Given the description of an element on the screen output the (x, y) to click on. 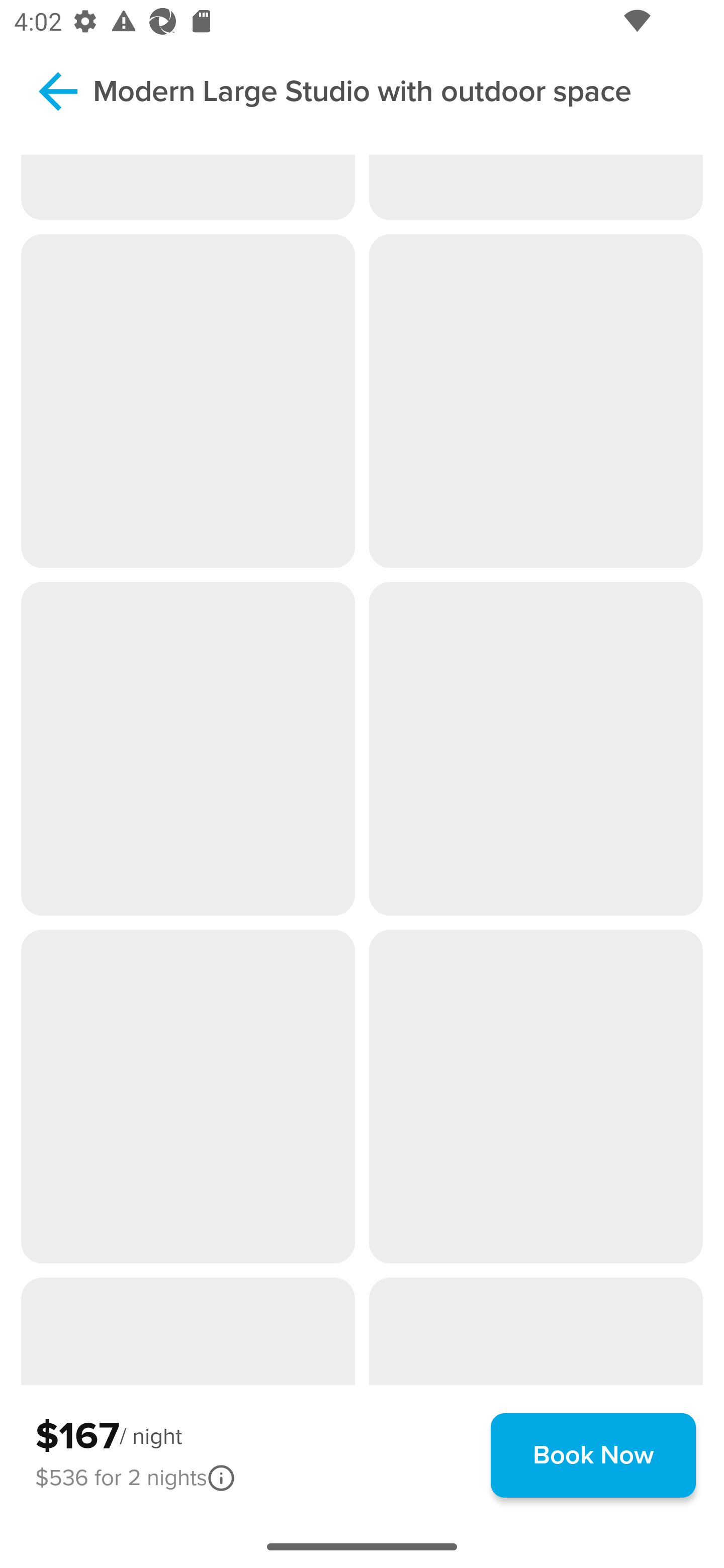
Book Now (592, 1454)
